Given the description of an element on the screen output the (x, y) to click on. 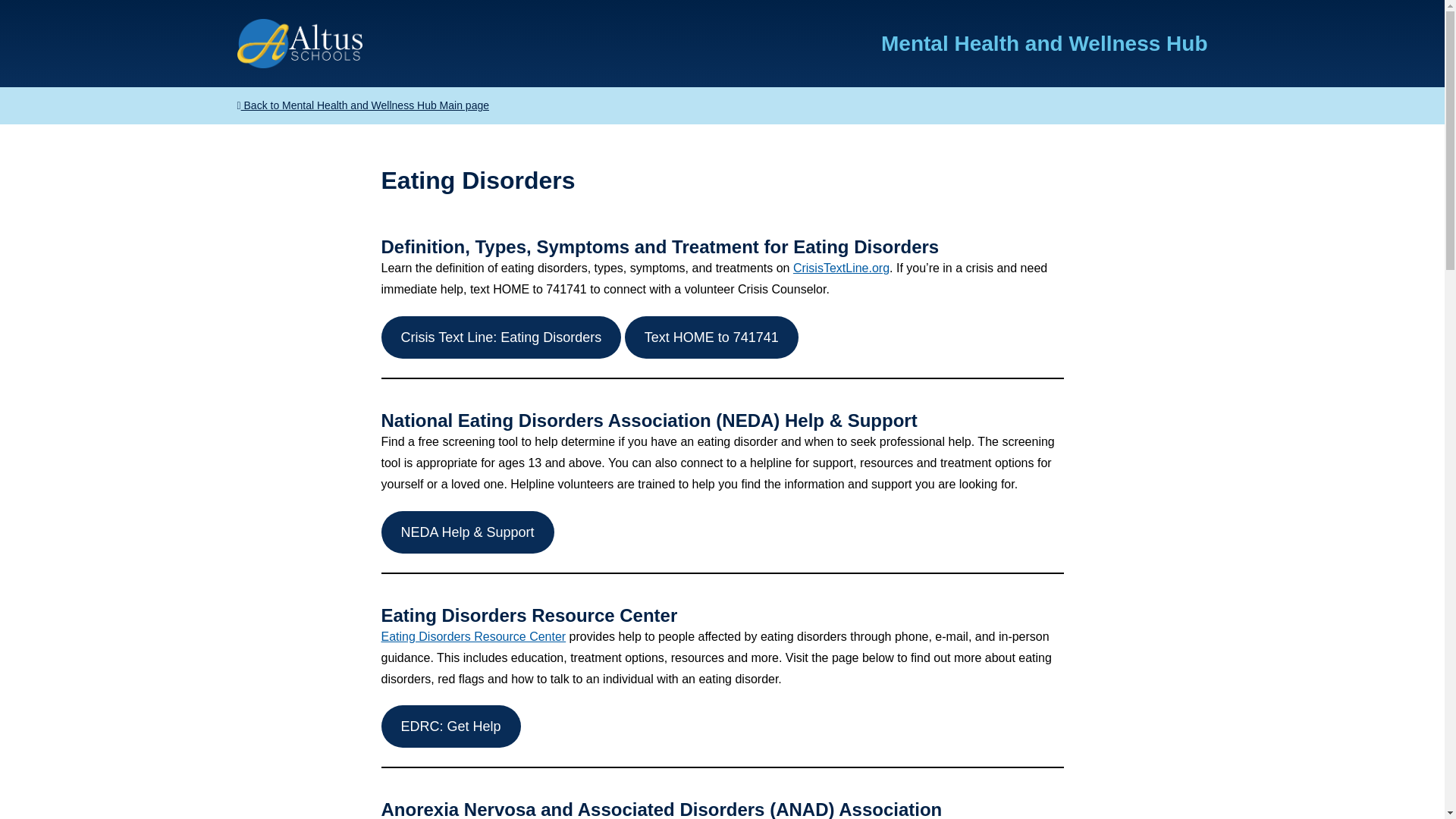
Crisis Text Line: Eating Disorders (500, 337)
Text HOME to 741741 (710, 337)
CrisisTextLine.org (841, 267)
Eating Disorders Resource Center (473, 635)
EDRC: Get Help (449, 726)
Back to Mental Health and Wellness Hub Main page (721, 105)
